Given the description of an element on the screen output the (x, y) to click on. 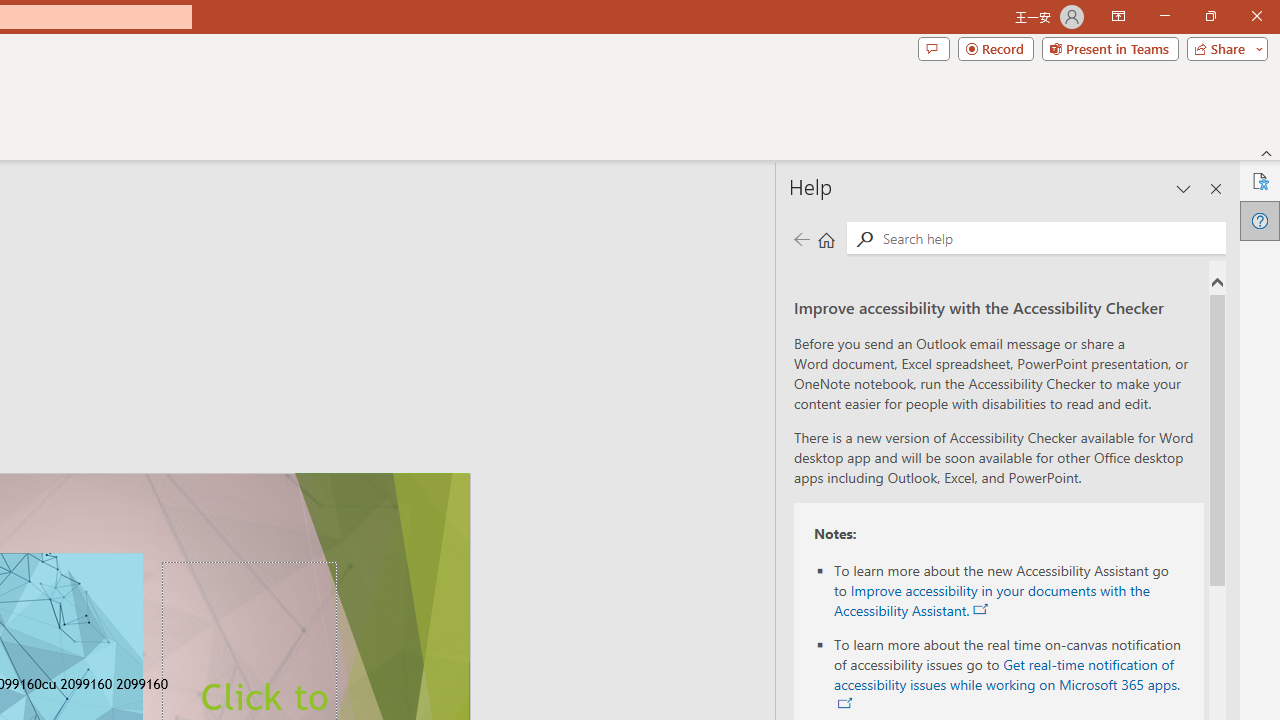
(CVPR24)Matching Anything by Segmenting Anything.pdf (962, 324)
